Given the description of an element on the screen output the (x, y) to click on. 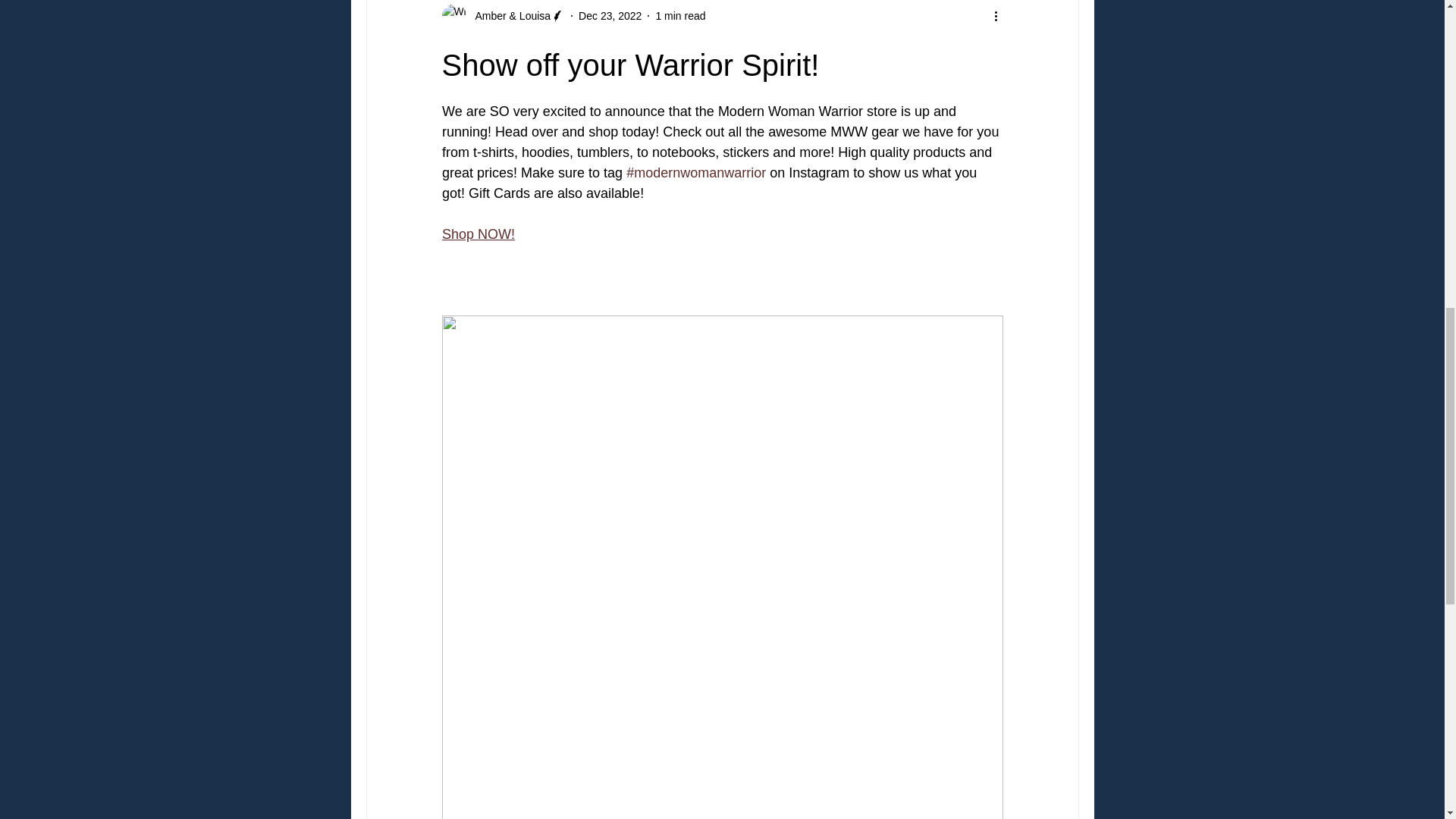
1 min read (679, 15)
Shop NOW! (477, 233)
Dec 23, 2022 (610, 15)
